Given the description of an element on the screen output the (x, y) to click on. 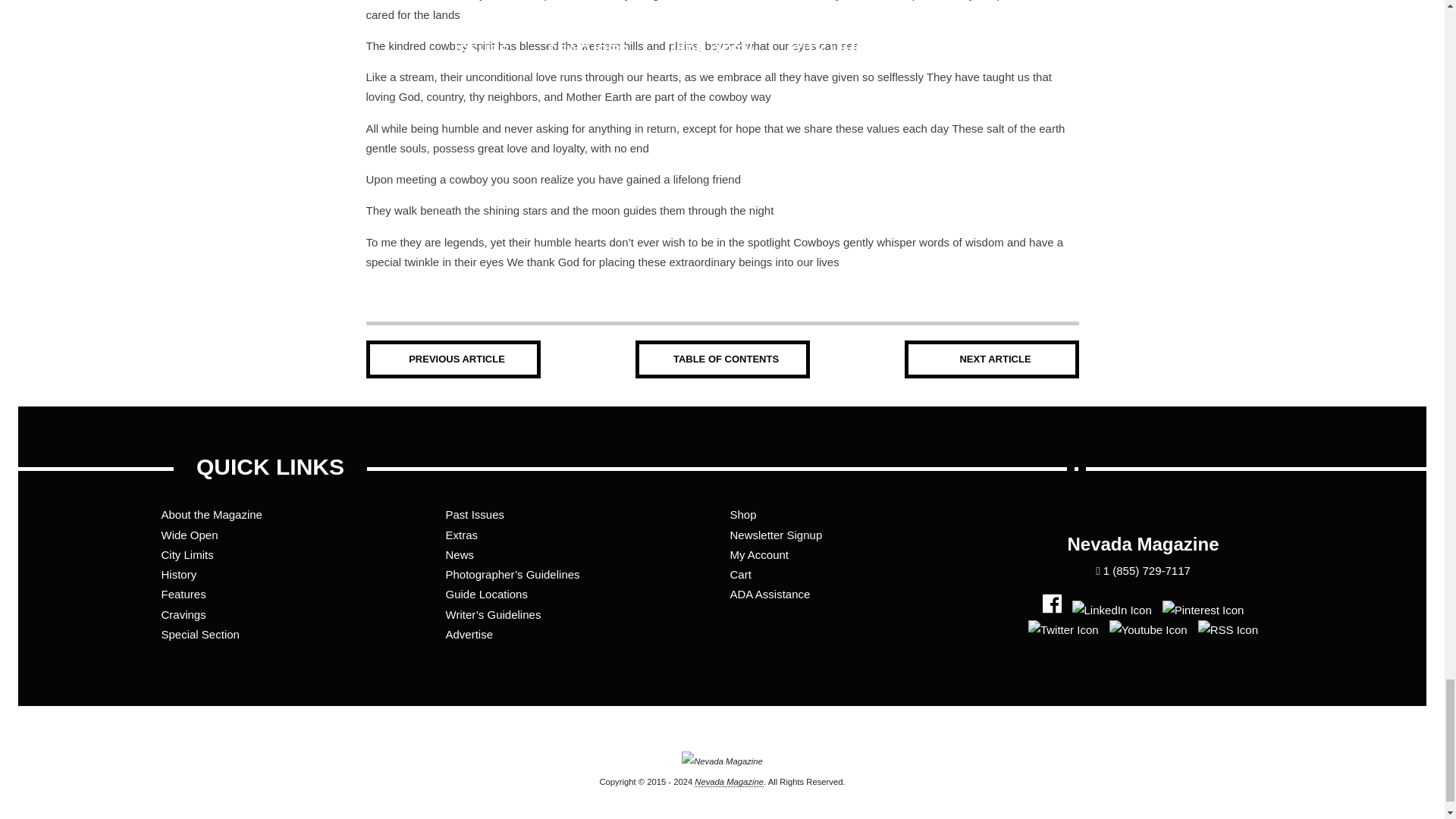
Nevada Magazine (728, 781)
Nevada Magazine (722, 772)
